Given the description of an element on the screen output the (x, y) to click on. 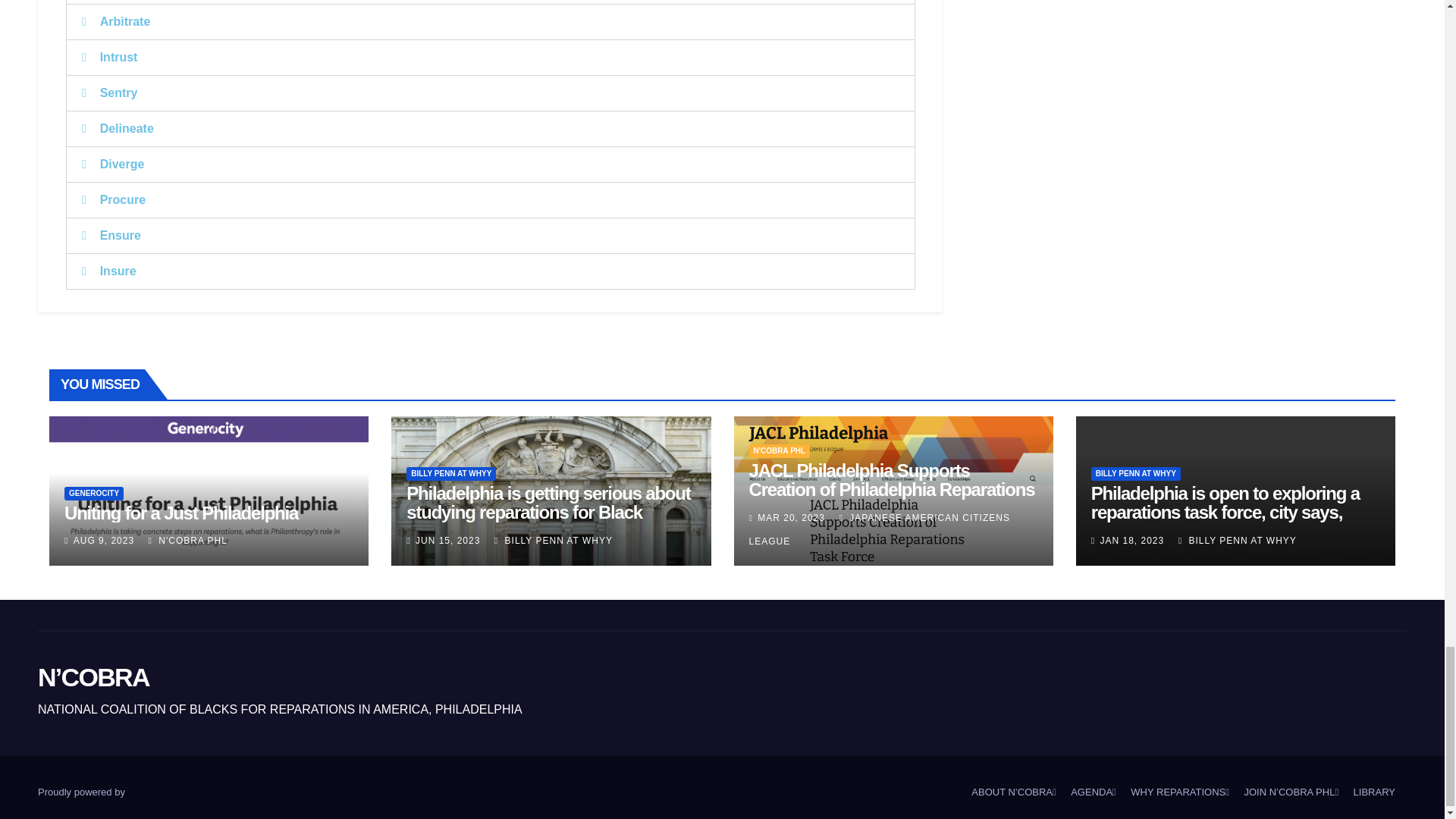
Permalink to: Uniting for a Just Philadelphia (181, 512)
